Given the description of an element on the screen output the (x, y) to click on. 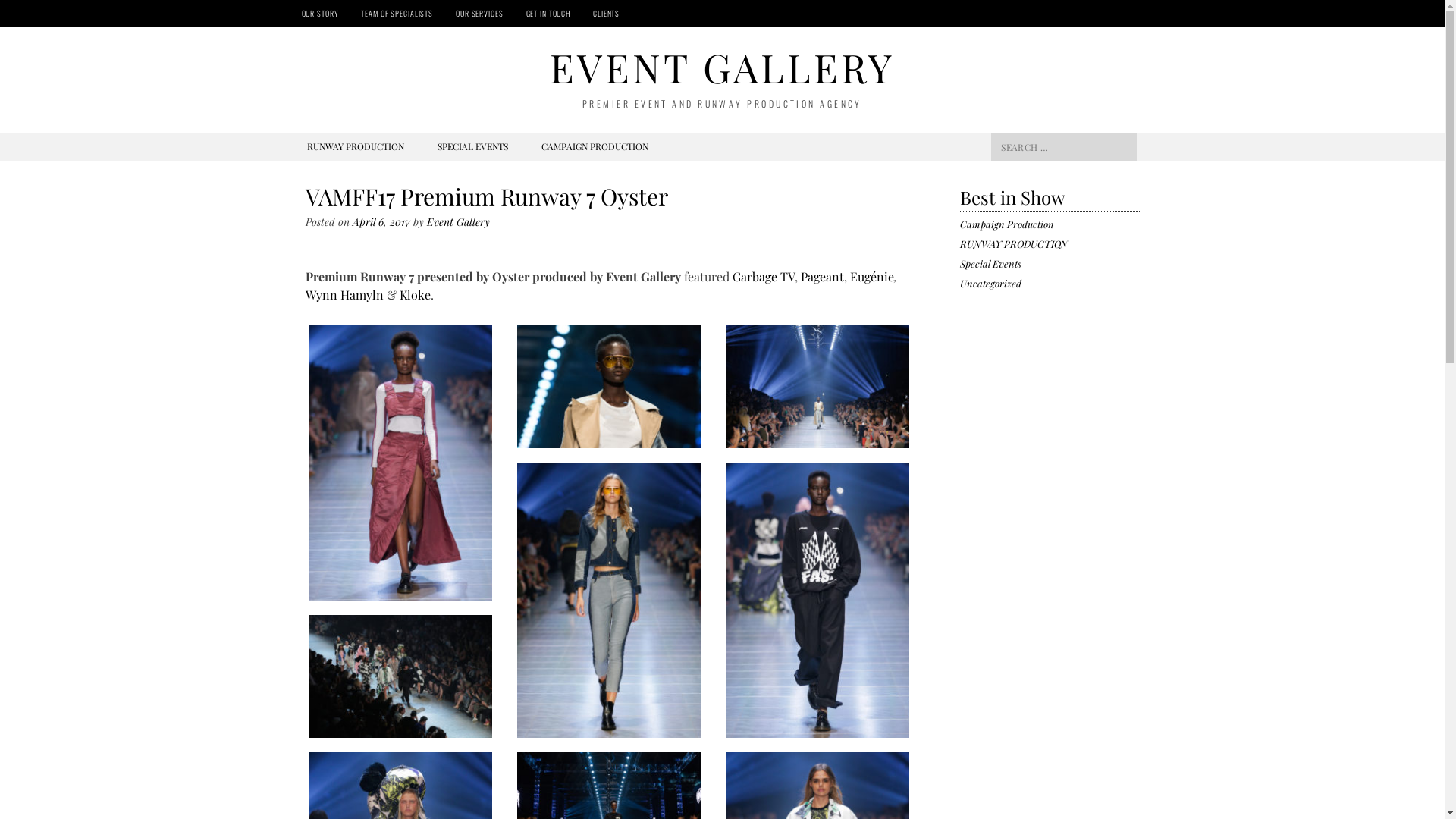
CLIENTS Element type: text (605, 12)
Garbage TV Element type: text (763, 276)
TEAM OF SPECIALISTS Element type: text (396, 12)
RUNWAY PRODUCTION Element type: text (1013, 243)
Pageant Element type: text (822, 276)
Event Gallery Element type: text (457, 221)
OUR STORY Element type: text (319, 12)
CAMPAIGN PRODUCTION Element type: text (594, 146)
GET IN TOUCH Element type: text (547, 12)
SPECIAL EVENTS Element type: text (472, 146)
Uncategorized Element type: text (990, 282)
OUR SERVICES Element type: text (479, 12)
Campaign Production Element type: text (1007, 223)
April 6, 2017 Element type: text (380, 221)
EVENT GALLERY Element type: text (721, 66)
Wynn Hamyln Element type: text (343, 294)
RUNWAY PRODUCTION Element type: text (354, 146)
Kloke Element type: text (413, 294)
SKIP TO CONTENT Element type: text (344, 146)
Special Events Element type: text (990, 263)
